Given the description of an element on the screen output the (x, y) to click on. 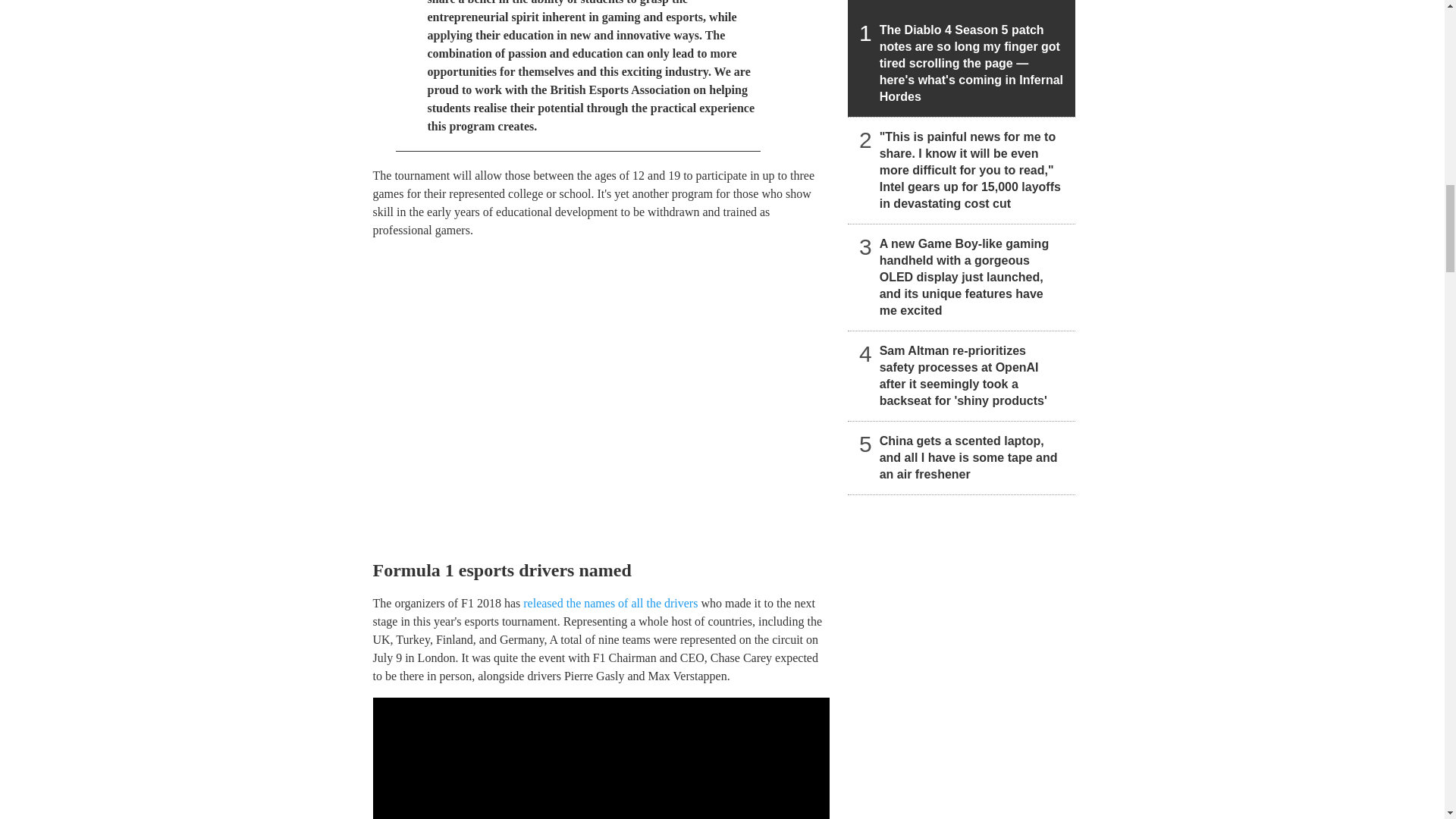
released the names of all the drivers (609, 603)
